Given the description of an element on the screen output the (x, y) to click on. 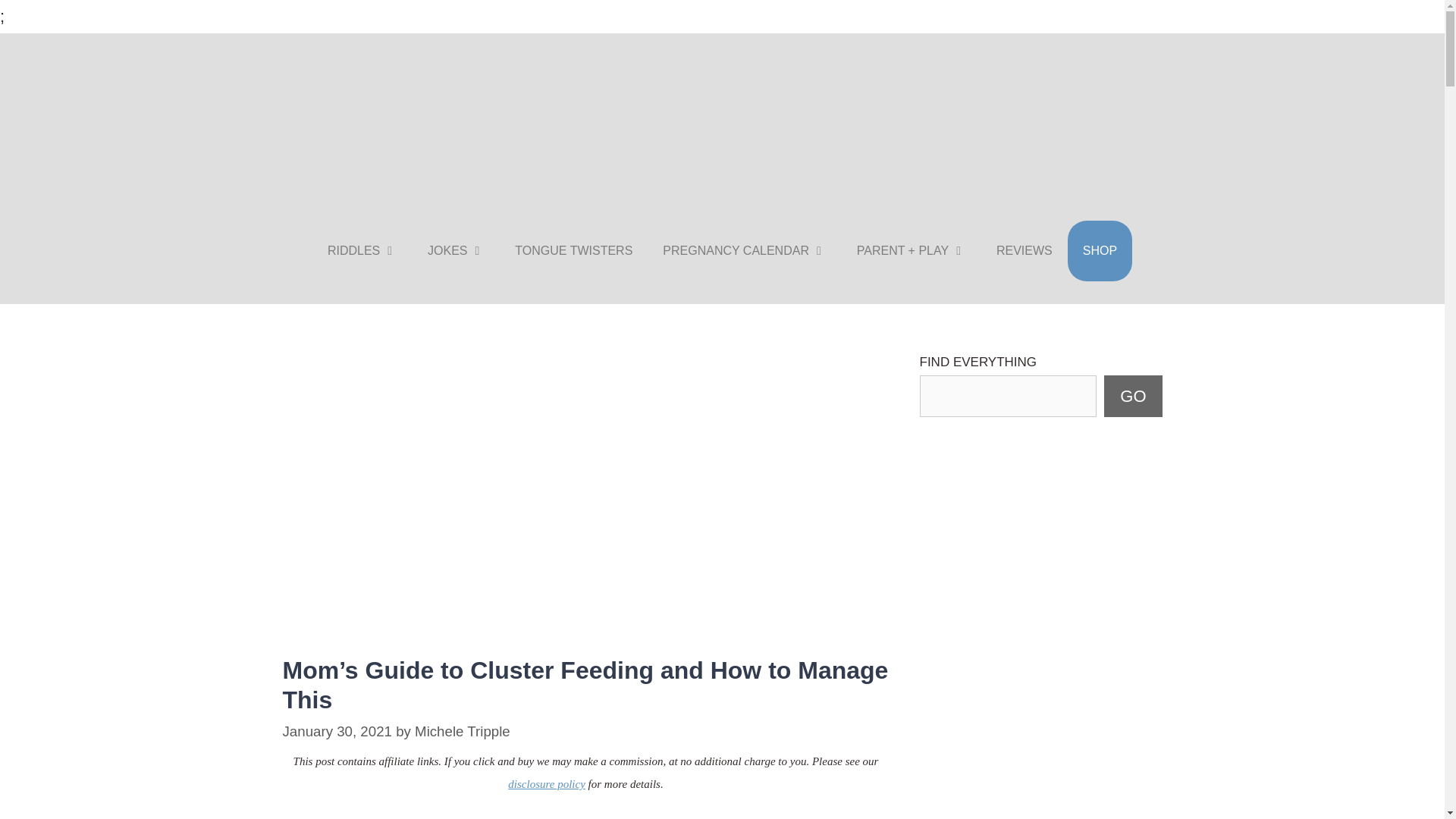
PREGNANCY CALENDAR (744, 250)
View all posts by Michele Tripple (462, 731)
JOKES (455, 250)
RIDDLES (362, 250)
TONGUE TWISTERS (573, 250)
